Given the description of an element on the screen output the (x, y) to click on. 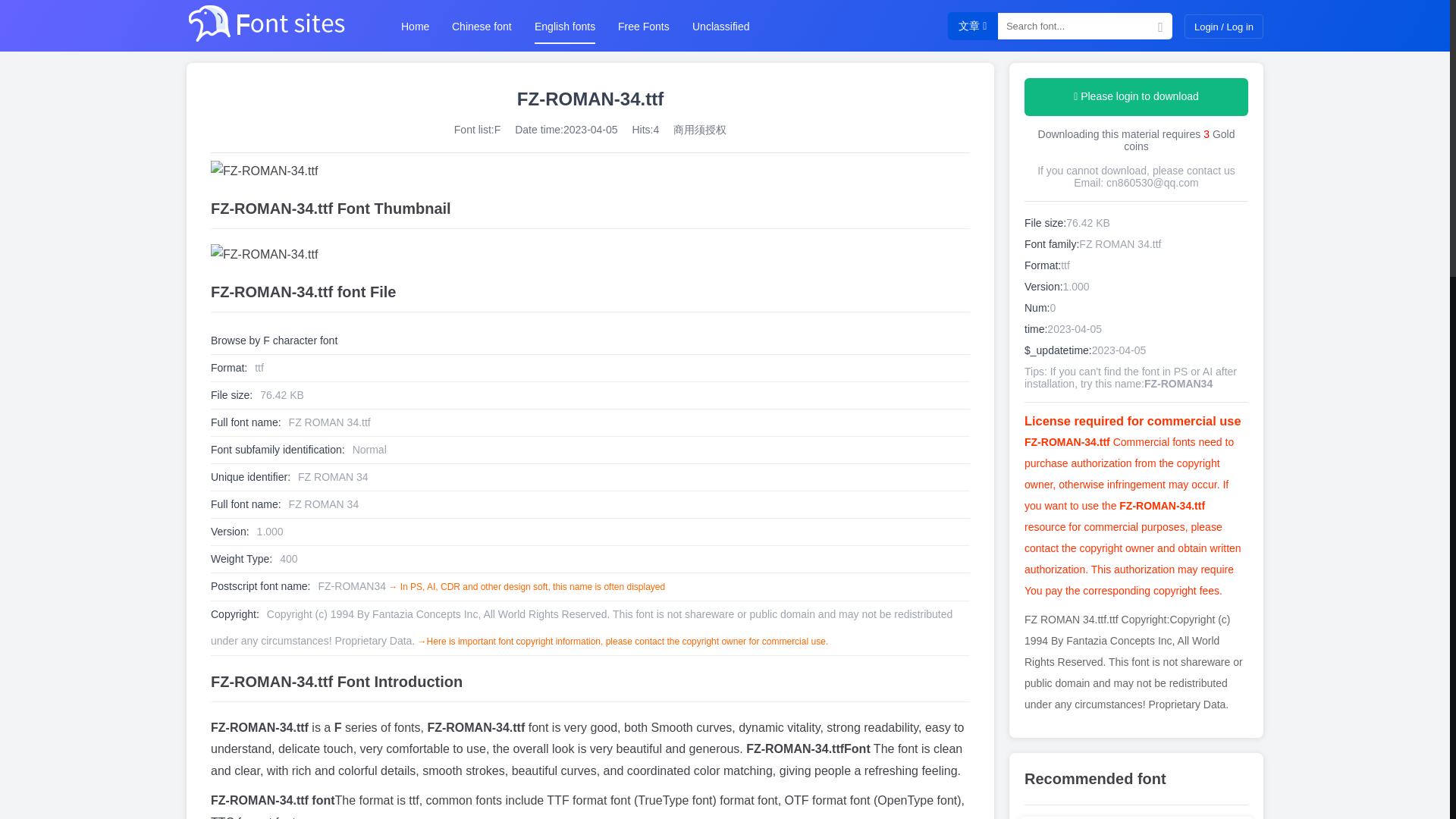
FZ-ROMAN-34.ttf (590, 171)
Home (415, 26)
Chinese font (481, 26)
F (497, 136)
FZ-ROMAN-34.ttf (590, 255)
